Given the description of an element on the screen output the (x, y) to click on. 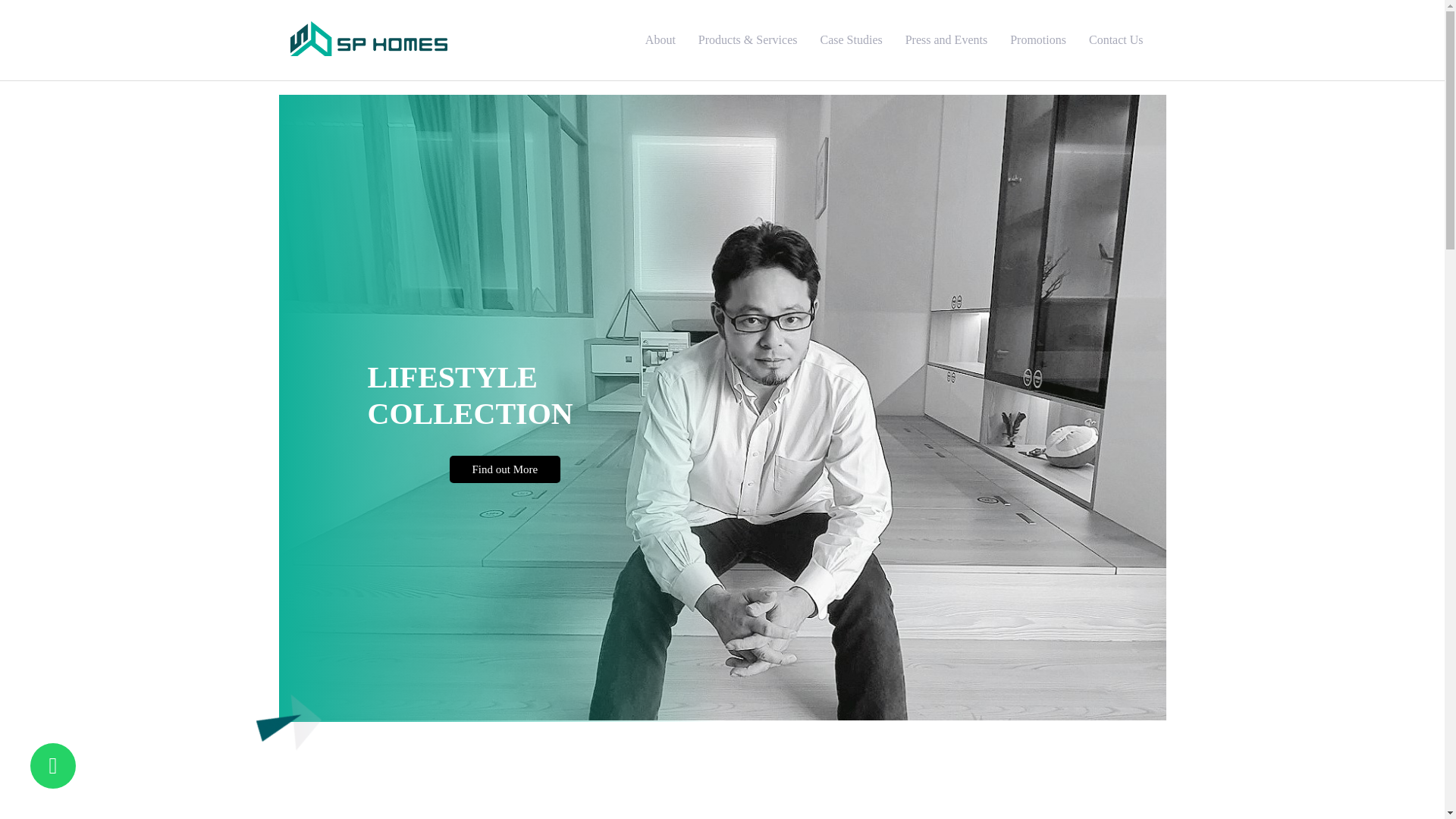
Contact Us (1115, 40)
Press and Events (945, 40)
Case Studies (850, 40)
Promotions (1037, 40)
Find out More (504, 469)
